Given the description of an element on the screen output the (x, y) to click on. 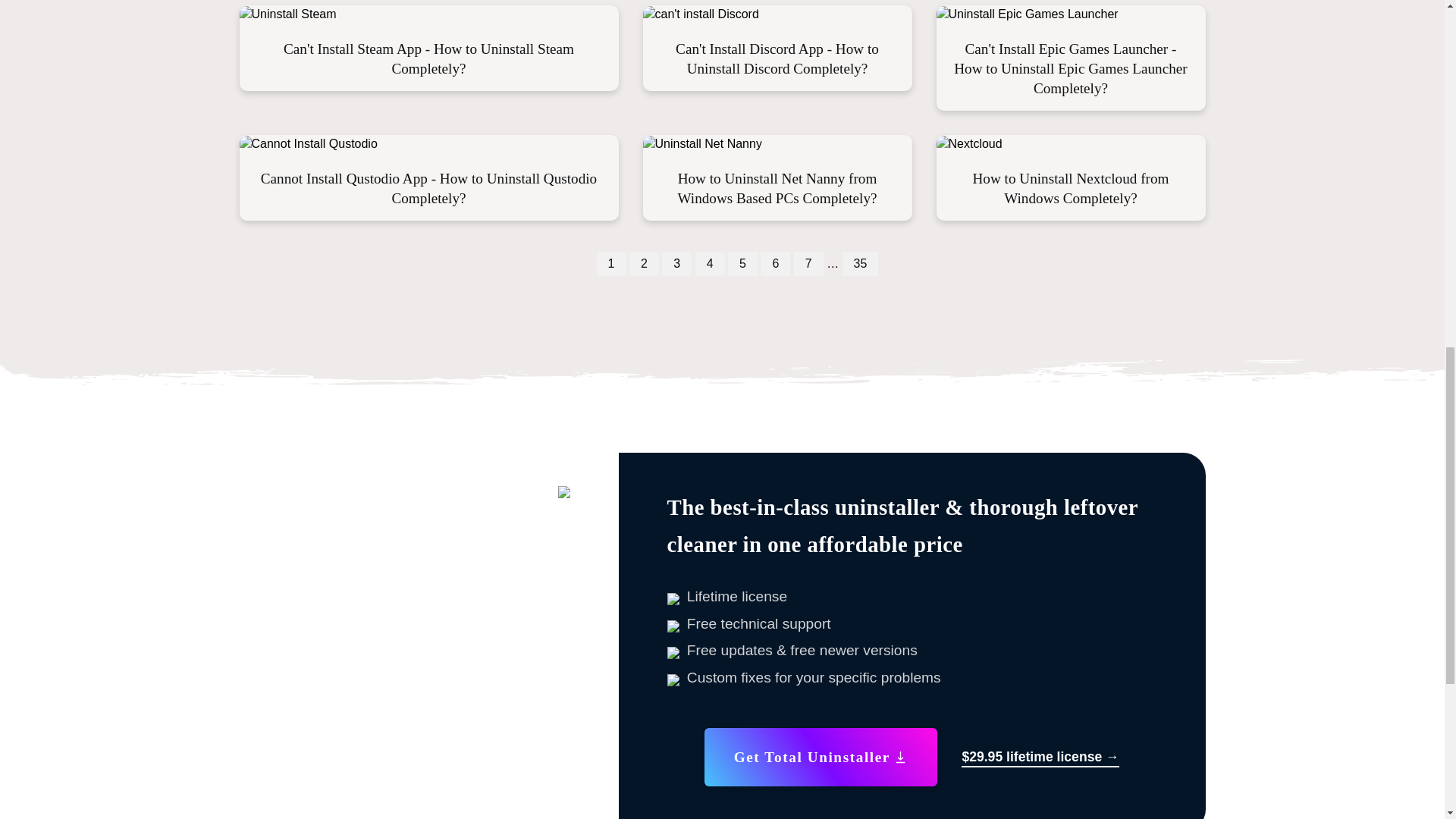
Can't Install Steam App - How to Uninstall Steam Completely? (428, 58)
5 (742, 263)
7 (808, 263)
2 (643, 263)
4 (710, 263)
1 (611, 263)
Get Total Uninstaller (820, 757)
35 (861, 263)
How to Uninstall Nextcloud from Windows Completely? (1070, 188)
6 (775, 263)
